Given the description of an element on the screen output the (x, y) to click on. 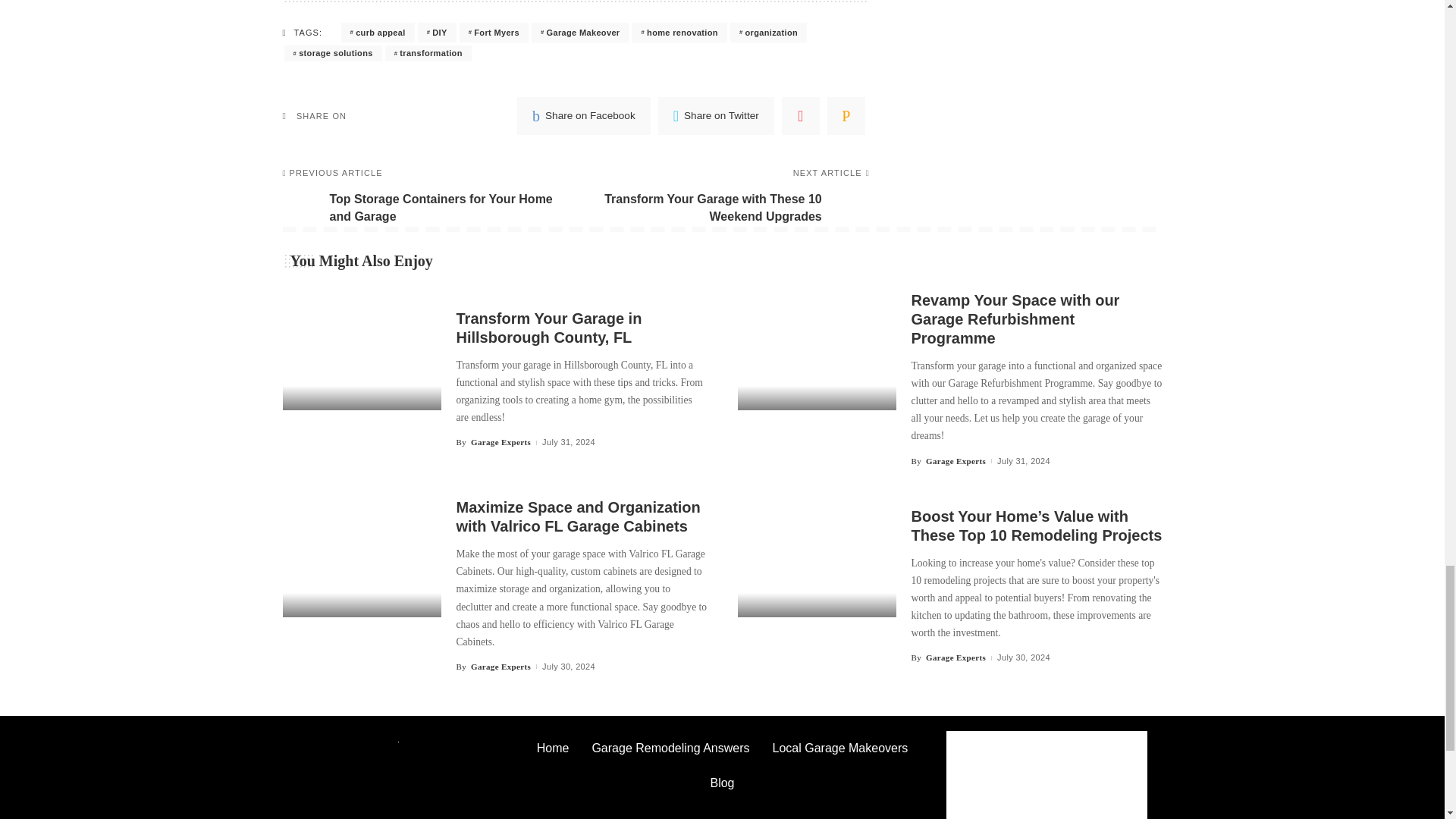
home renovation (678, 32)
storage solutions (332, 53)
transformation (428, 53)
Share on Twitter (716, 116)
Share on Facebook (583, 116)
DIY (437, 32)
Fort Myers (494, 32)
Garage Makeover (579, 32)
organization (768, 32)
curb appeal (377, 32)
